Given the description of an element on the screen output the (x, y) to click on. 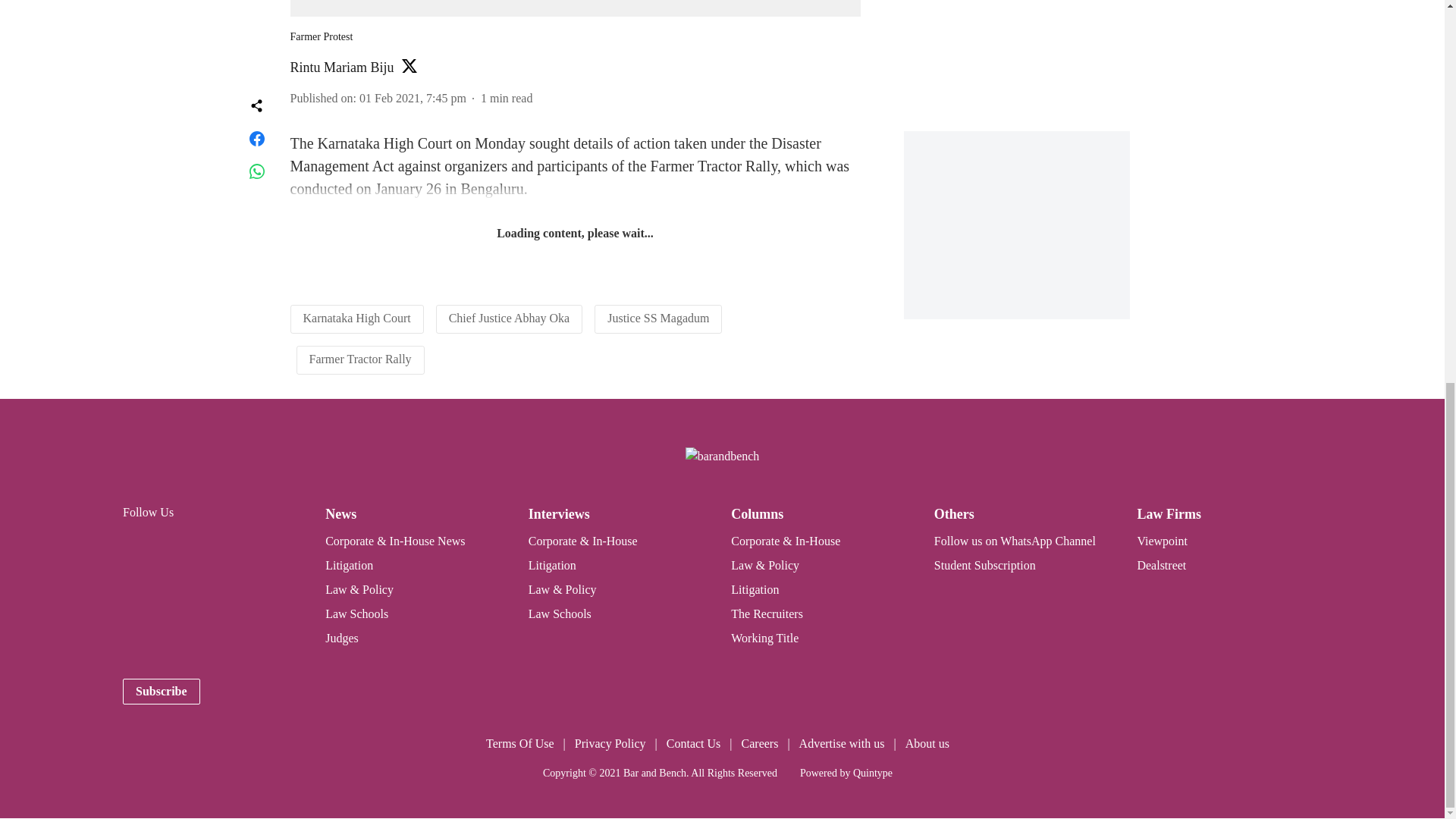
Chief Justice Abhay Oka (509, 318)
Justice SS Magadum (658, 318)
News (340, 513)
Rintu Mariam Biju (341, 67)
2021-02-01 11:45 (412, 97)
Karnataka High Court (356, 318)
Farmer Tractor Rally (360, 358)
